Given the description of an element on the screen output the (x, y) to click on. 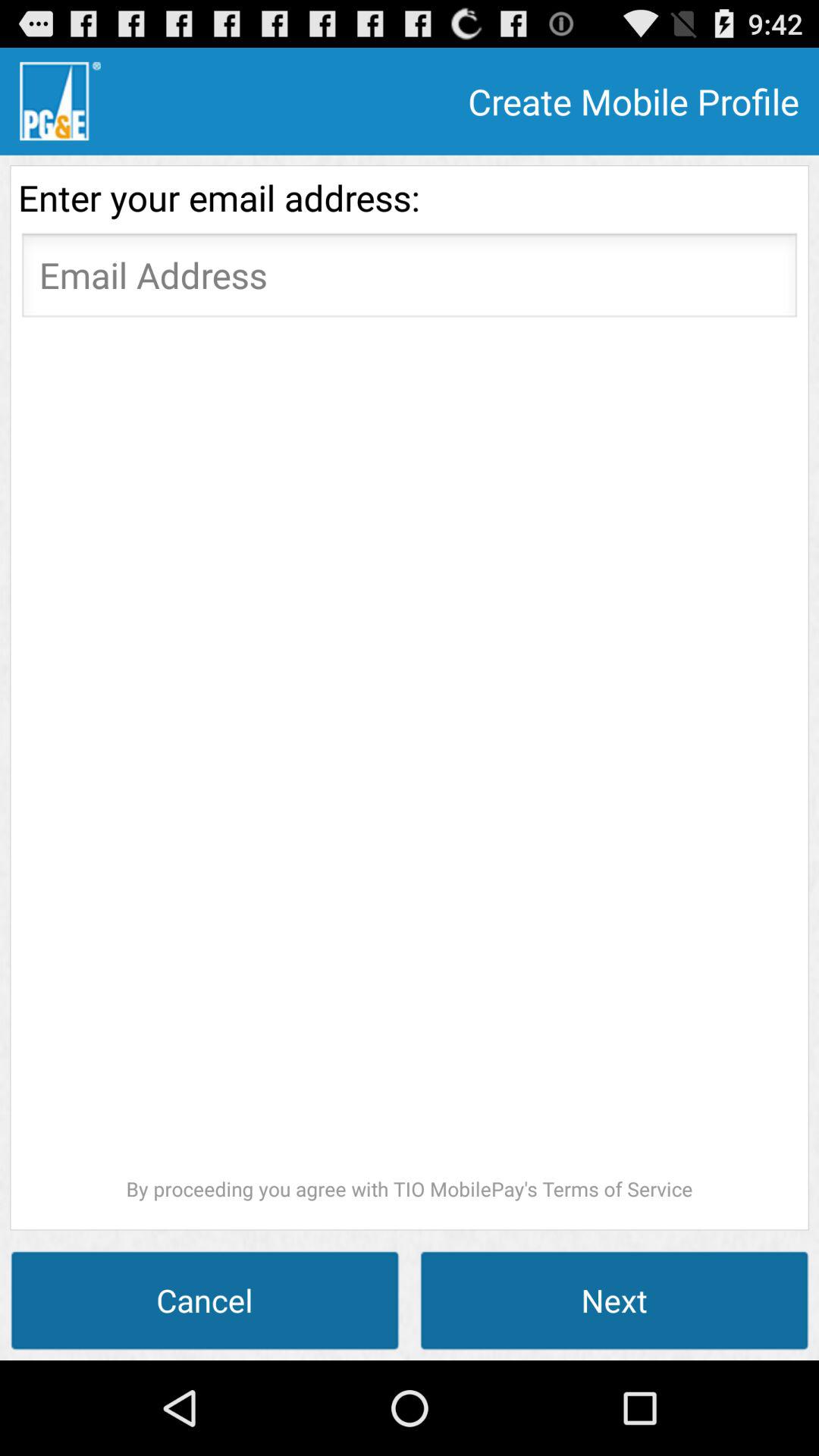
open icon next to the next icon (204, 1300)
